Given the description of an element on the screen output the (x, y) to click on. 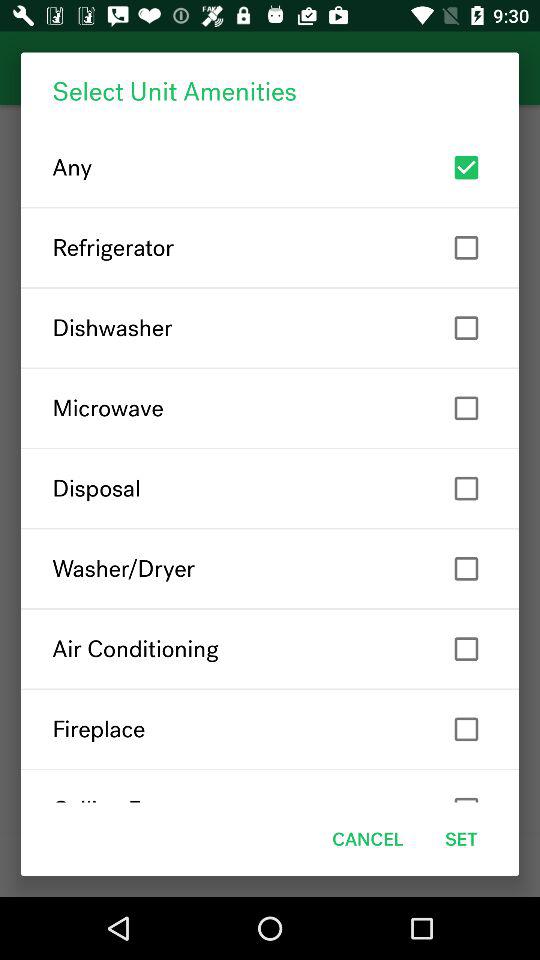
flip until the any item (270, 167)
